Given the description of an element on the screen output the (x, y) to click on. 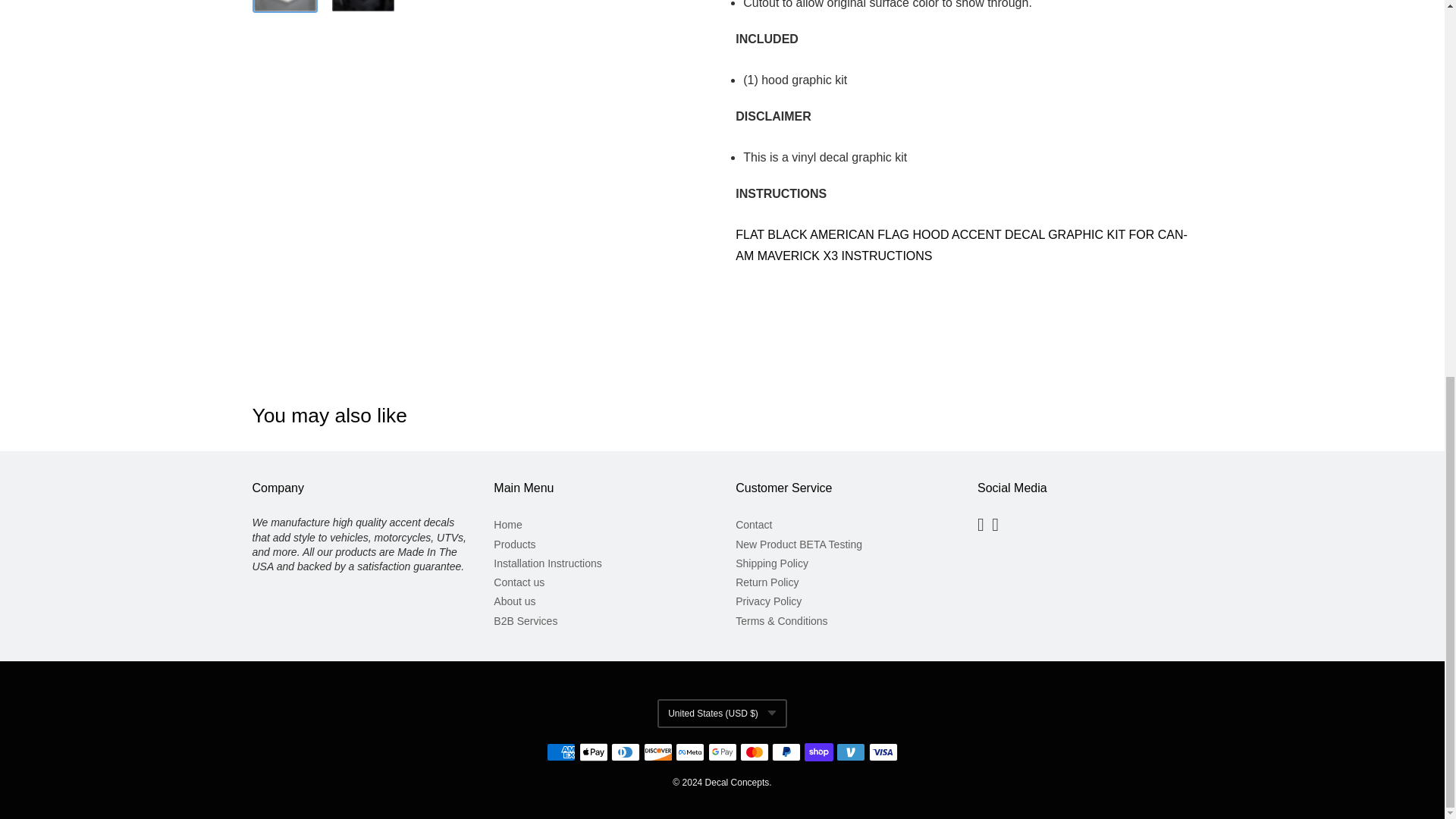
Home (600, 524)
PayPal (785, 751)
Mastercard (753, 751)
Visa (883, 751)
Diners Club (625, 751)
American Express (561, 751)
Contact us (600, 582)
Google Pay (721, 751)
Shop Pay (818, 751)
Discover (657, 751)
Products (600, 544)
Venmo (849, 751)
Installation Instructions (600, 563)
Meta Pay (689, 751)
